Given the description of an element on the screen output the (x, y) to click on. 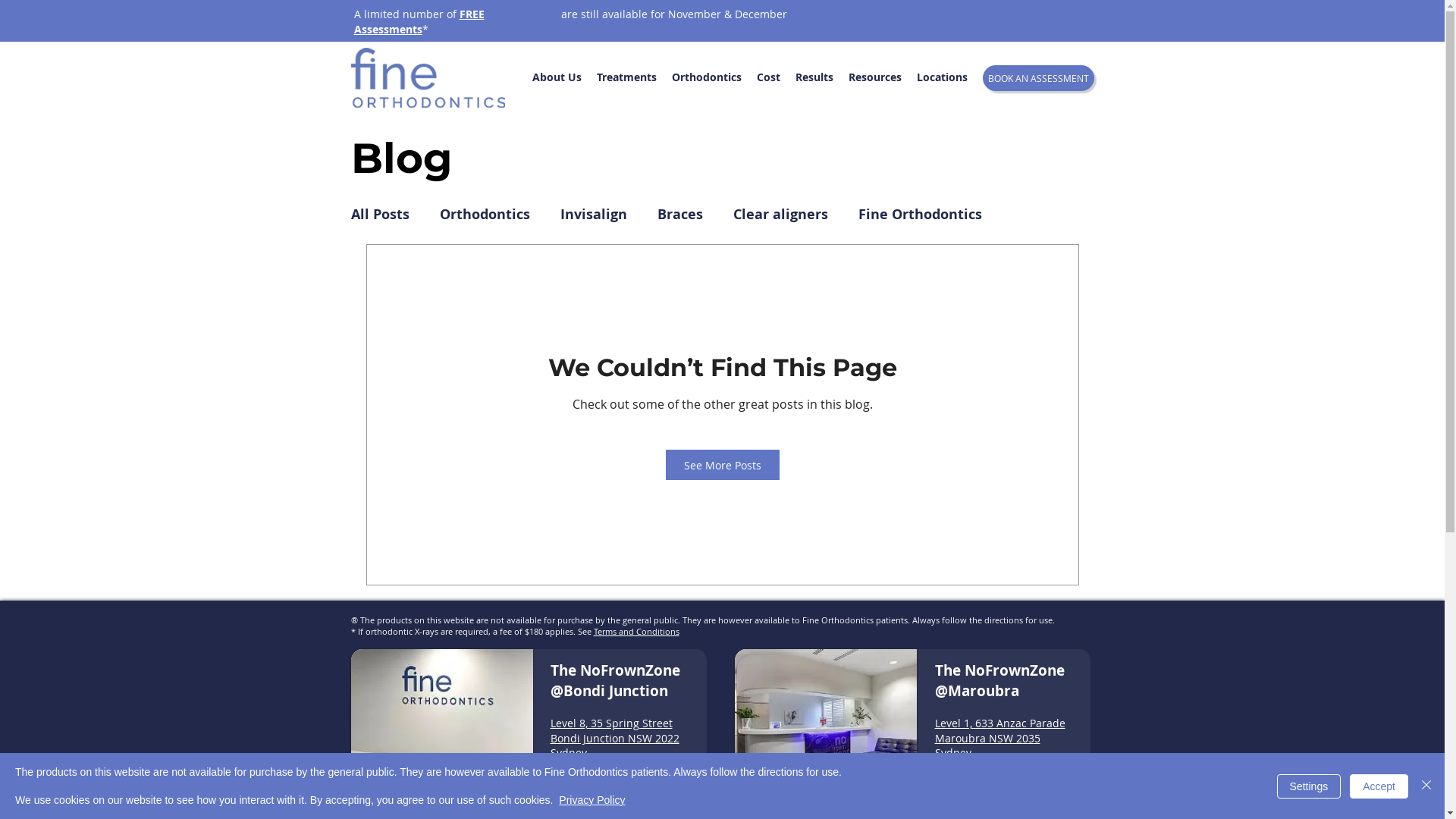
Accept Element type: text (1378, 786)
Fine Orthodontics Element type: text (920, 213)
BOOK AN ASSESSMENT Element type: text (1038, 78)
Terms and Conditions Element type: text (635, 631)
Braces Element type: text (679, 213)
Invisalign Element type: text (592, 213)
All Posts Element type: text (379, 213)
Settings Element type: text (1309, 786)
Locations Element type: text (941, 77)
Cost Element type: text (768, 77)
About Us Element type: text (556, 77)
See More Posts Element type: text (722, 464)
Orthodontics Element type: text (484, 213)
FREE Assessments Element type: text (418, 21)
Results Element type: text (813, 77)
Privacy Policy Element type: text (591, 799)
Clear aligners Element type: text (779, 213)
Level 8, 35 Spring Street
Bondi Junction NSW 2022
Sydney Element type: text (614, 737)
Level 1, 633 Anzac Parade
Maroubra NSW 2035
Sydney Element type: text (999, 737)
Treatments Element type: text (625, 77)
